Given the description of an element on the screen output the (x, y) to click on. 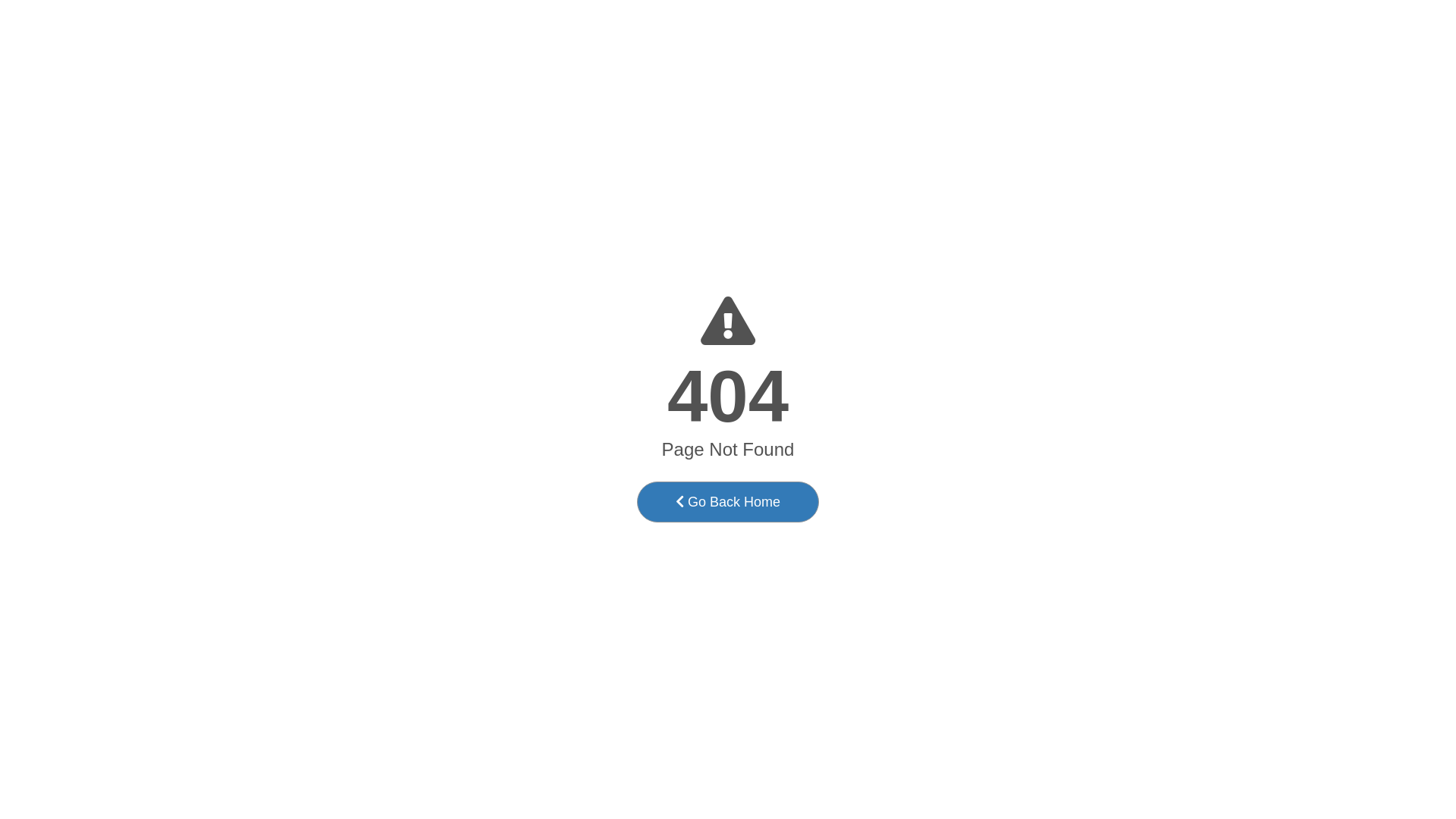
Go Back Home Element type: text (728, 501)
